Given the description of an element on the screen output the (x, y) to click on. 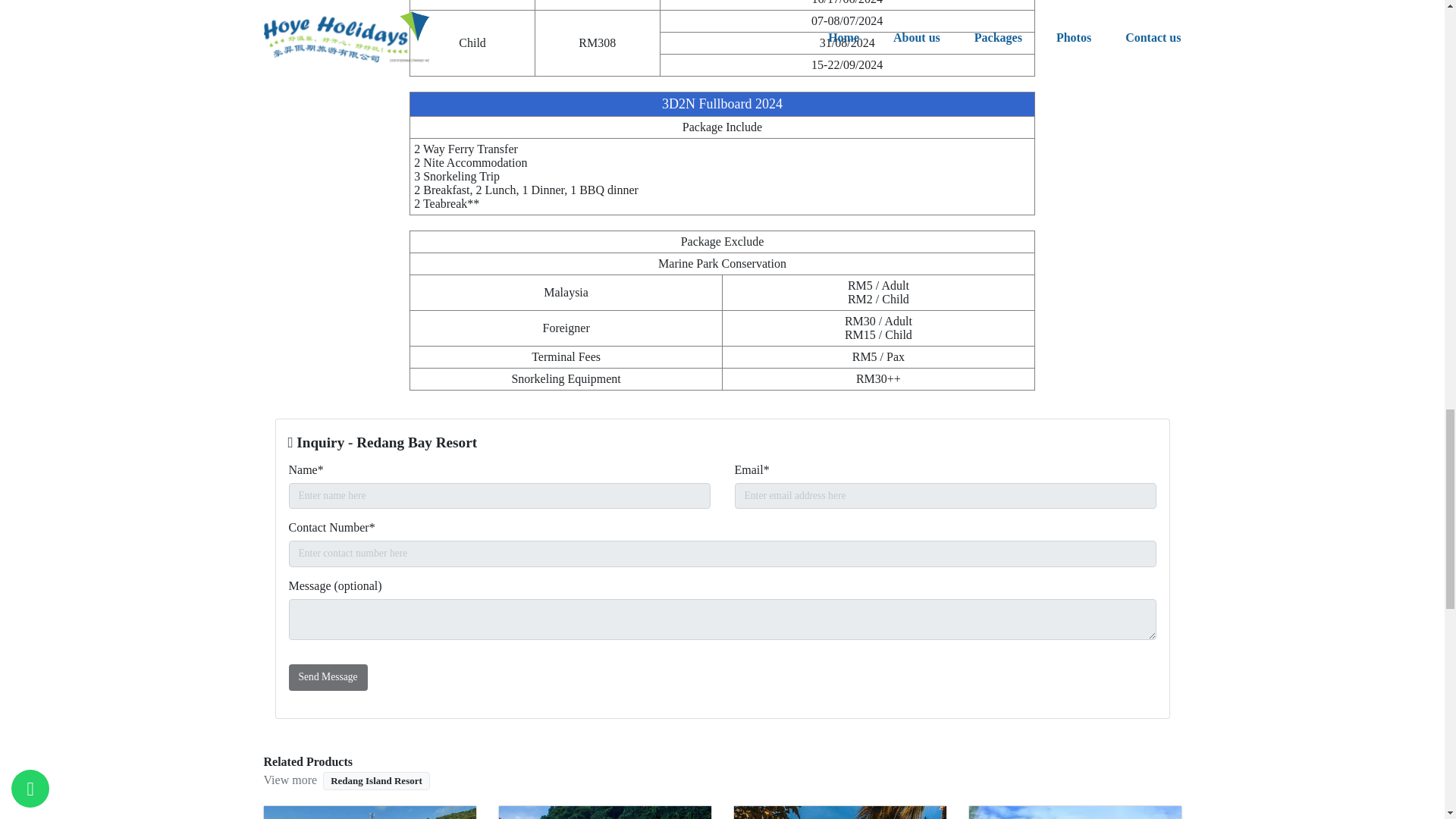
Send Message (327, 677)
Redang Island Resort (376, 781)
Send Message (327, 677)
